Given the description of an element on the screen output the (x, y) to click on. 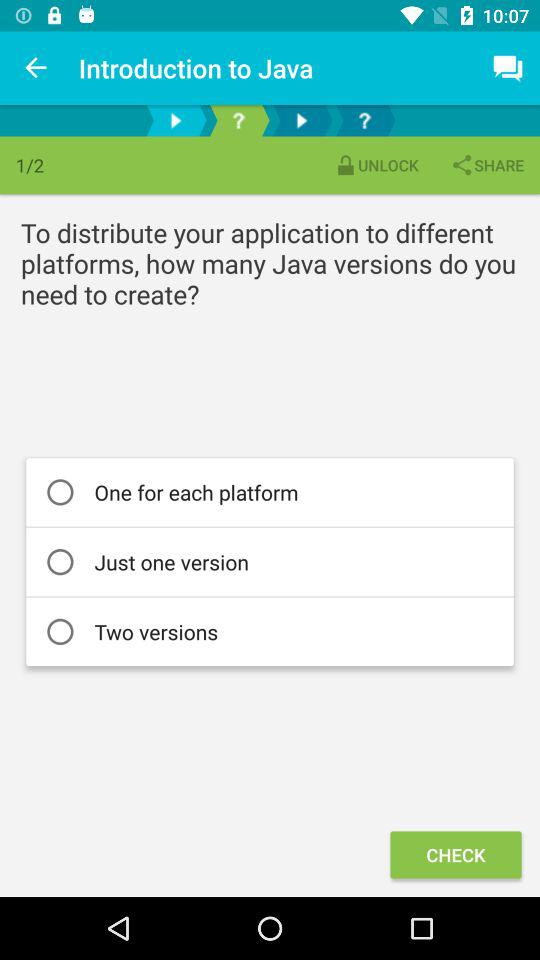
practice quiz (238, 120)
